Given the description of an element on the screen output the (x, y) to click on. 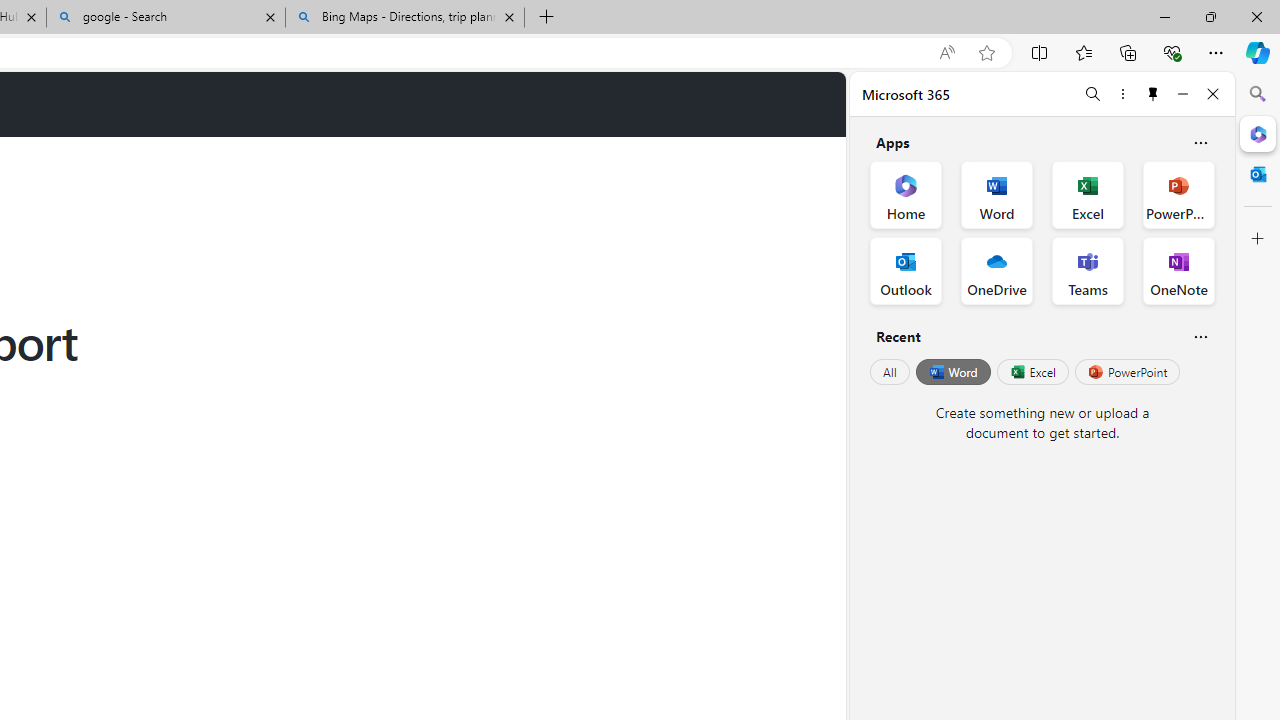
Word Office App (996, 194)
Home Office App (906, 194)
Excel (1031, 372)
All (890, 372)
Unpin side pane (1153, 93)
Excel Office App (1087, 194)
